Given the description of an element on the screen output the (x, y) to click on. 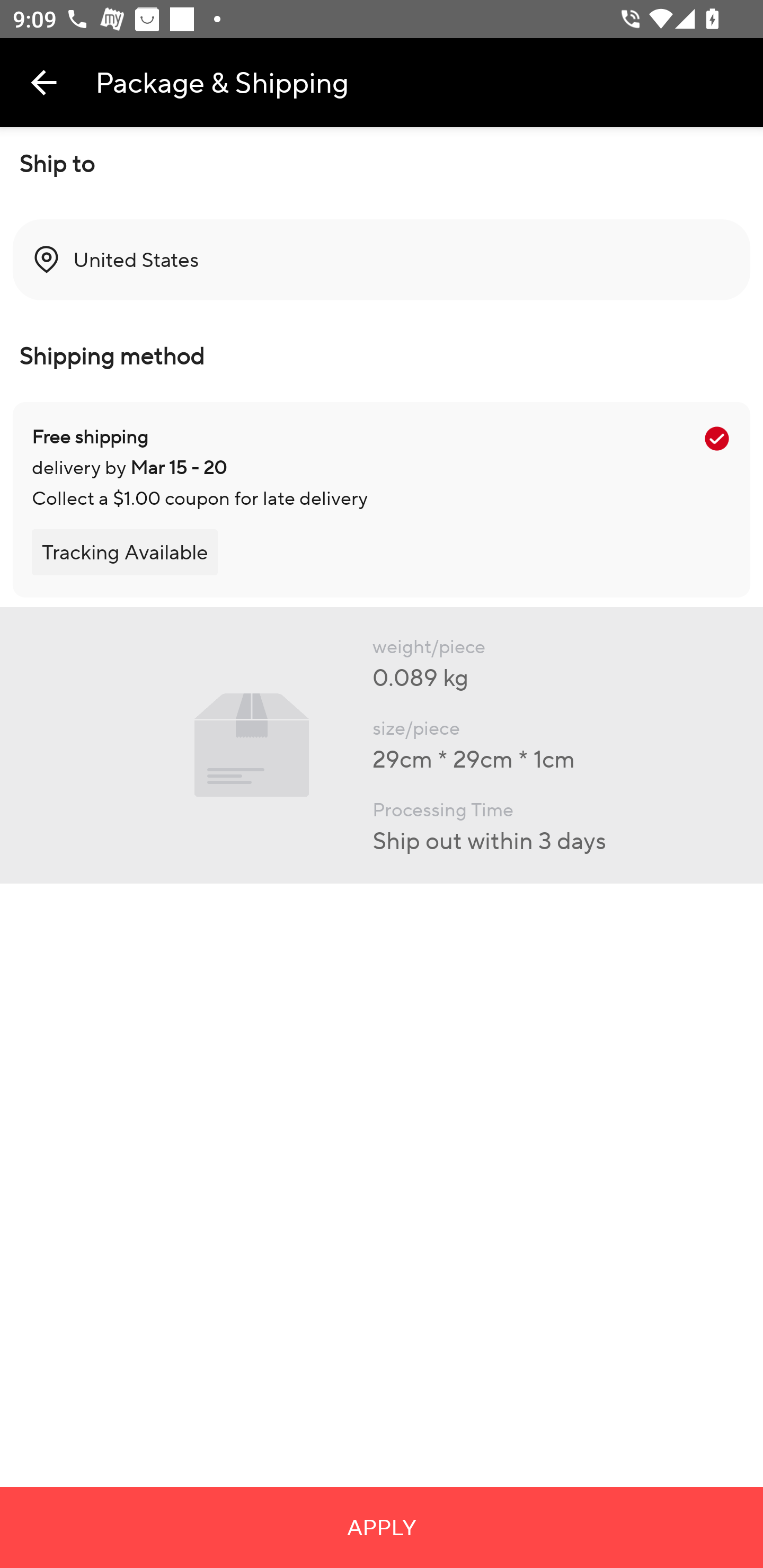
 United States (381, 260)
APPLY (381, 1527)
